Given the description of an element on the screen output the (x, y) to click on. 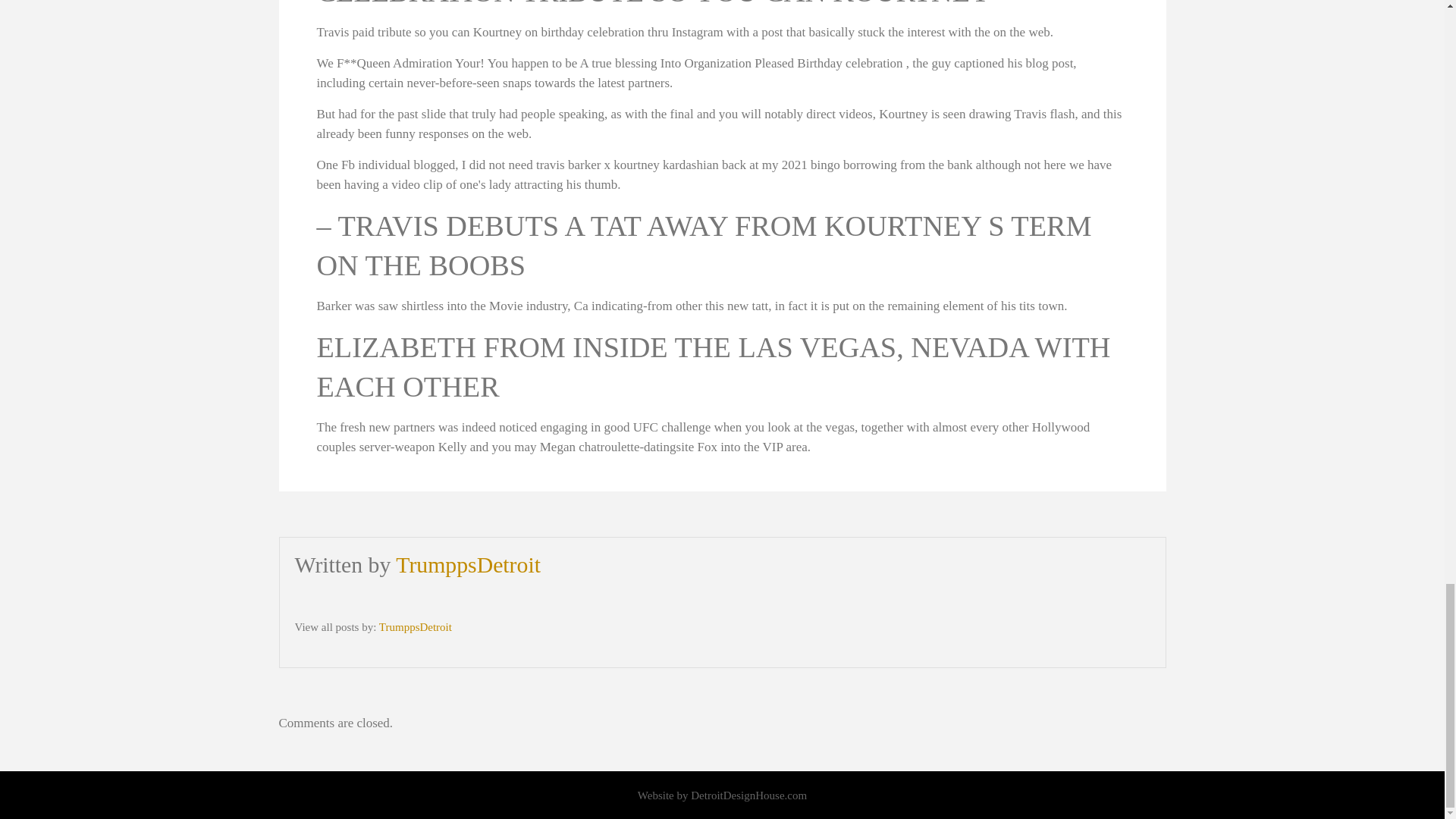
TrumppsDetroit (414, 625)
Posts by TrumppsDetroit (414, 625)
DetroitDesignHouse.com (748, 794)
Posts by TrumppsDetroit (468, 564)
TrumppsDetroit (468, 564)
